Given the description of an element on the screen output the (x, y) to click on. 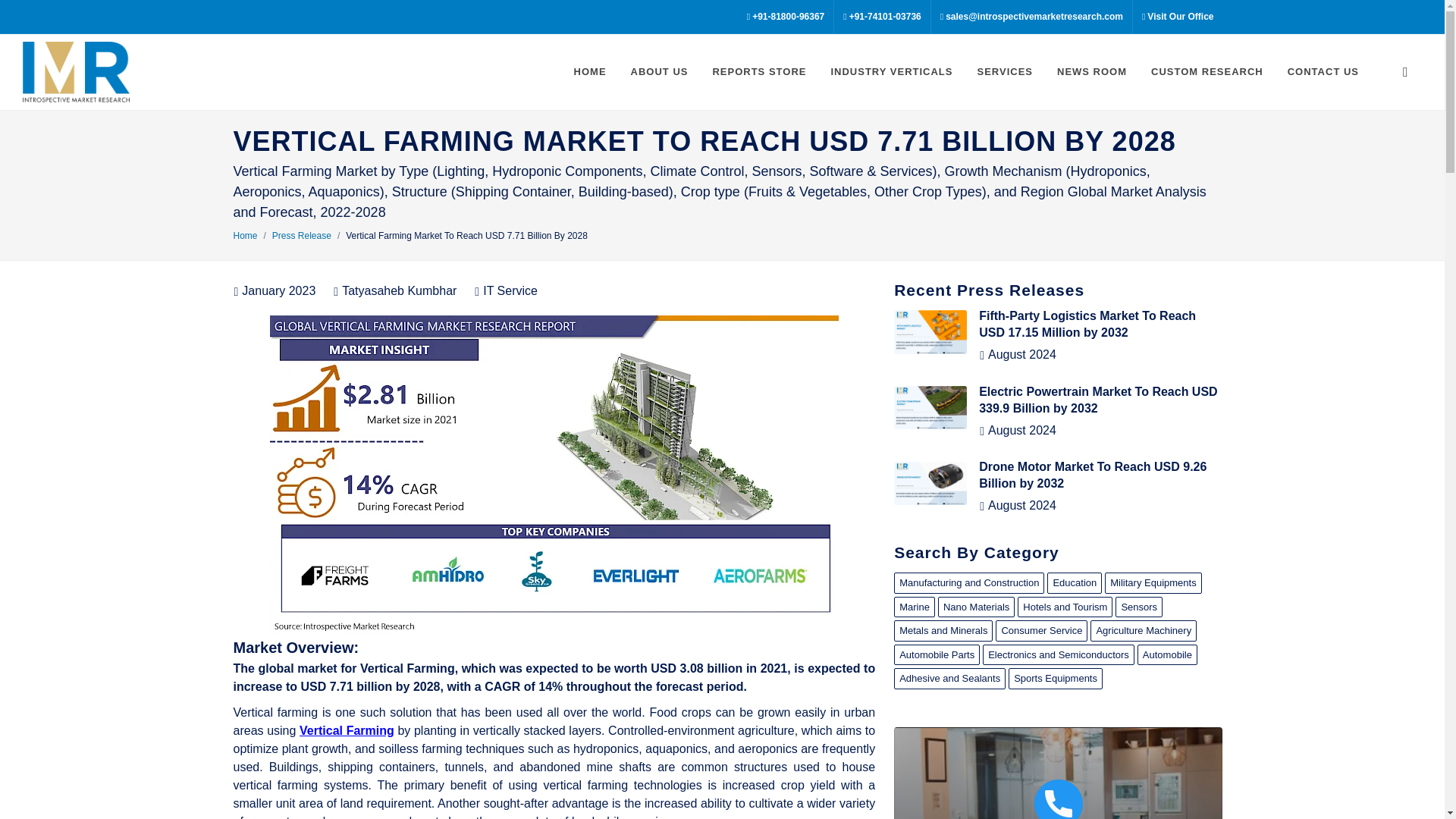
SERVICES (1004, 71)
Visit Our Office (1177, 16)
REPORTS STORE (758, 71)
ABOUT US (660, 71)
INDUSTRY VERTICALS (890, 71)
